Given the description of an element on the screen output the (x, y) to click on. 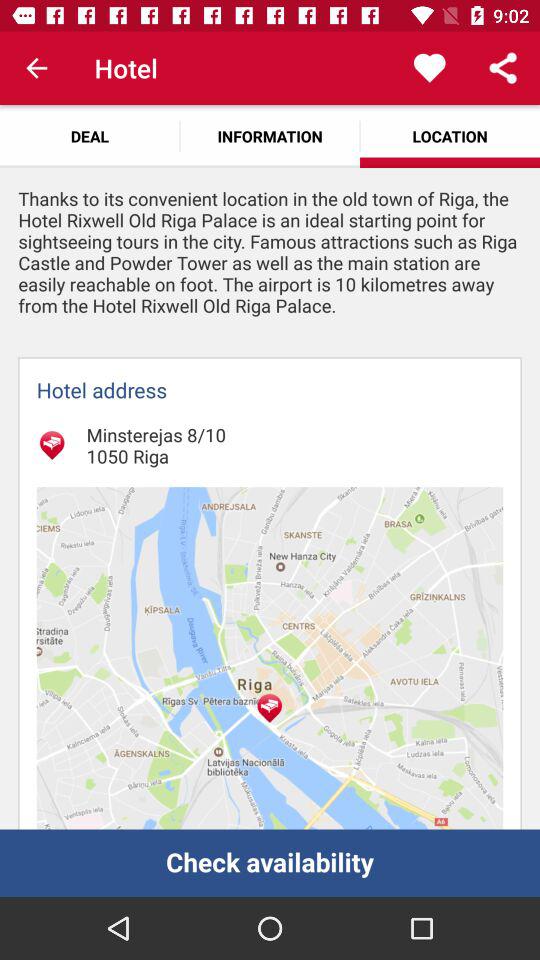
map (269, 658)
